Given the description of an element on the screen output the (x, y) to click on. 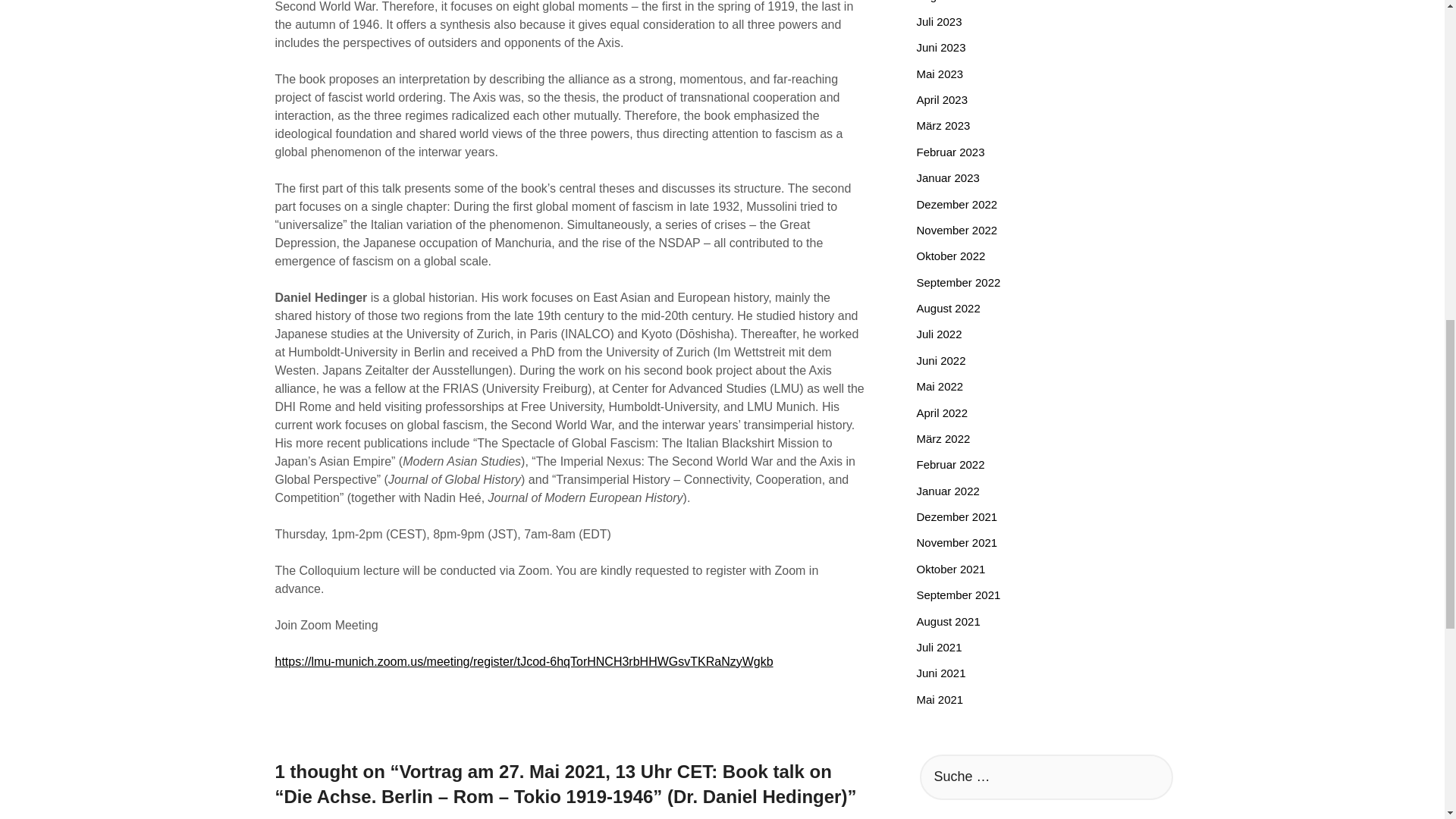
August 2023 (947, 1)
